Given the description of an element on the screen output the (x, y) to click on. 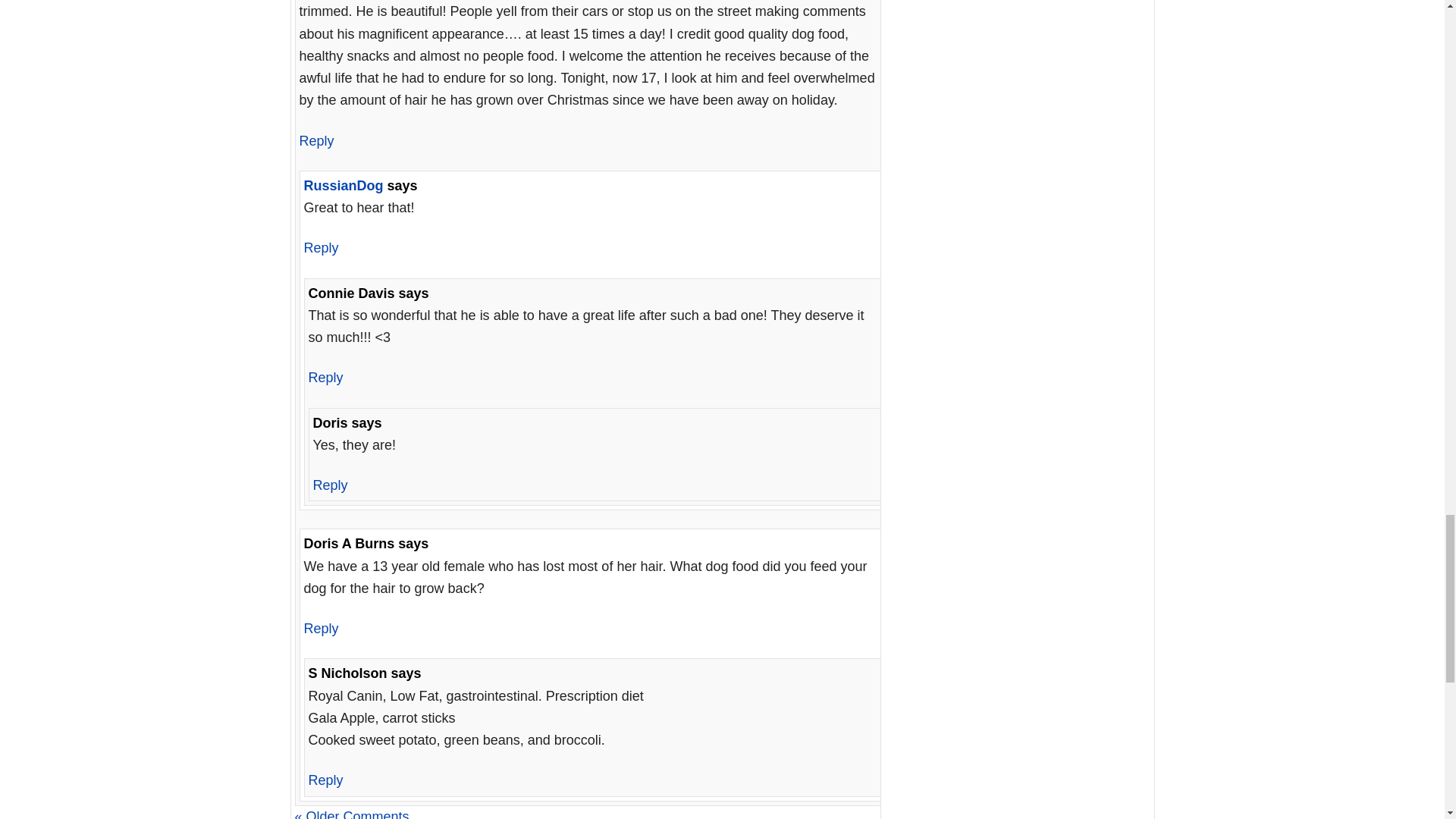
Reply (319, 247)
Reply (315, 140)
RussianDog (342, 185)
Reply (324, 377)
